Given the description of an element on the screen output the (x, y) to click on. 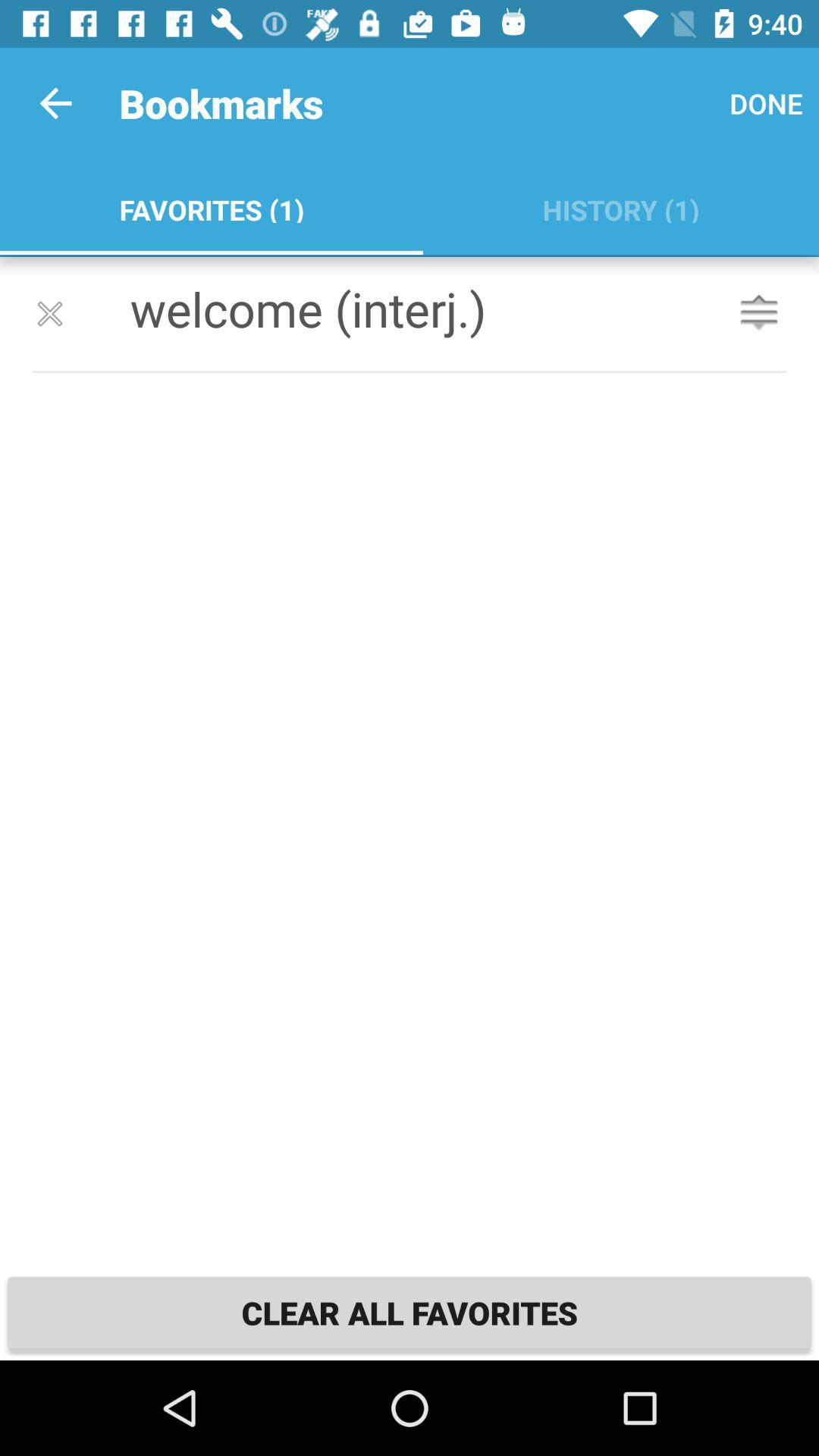
turn off icon below done item (621, 206)
